Given the description of an element on the screen output the (x, y) to click on. 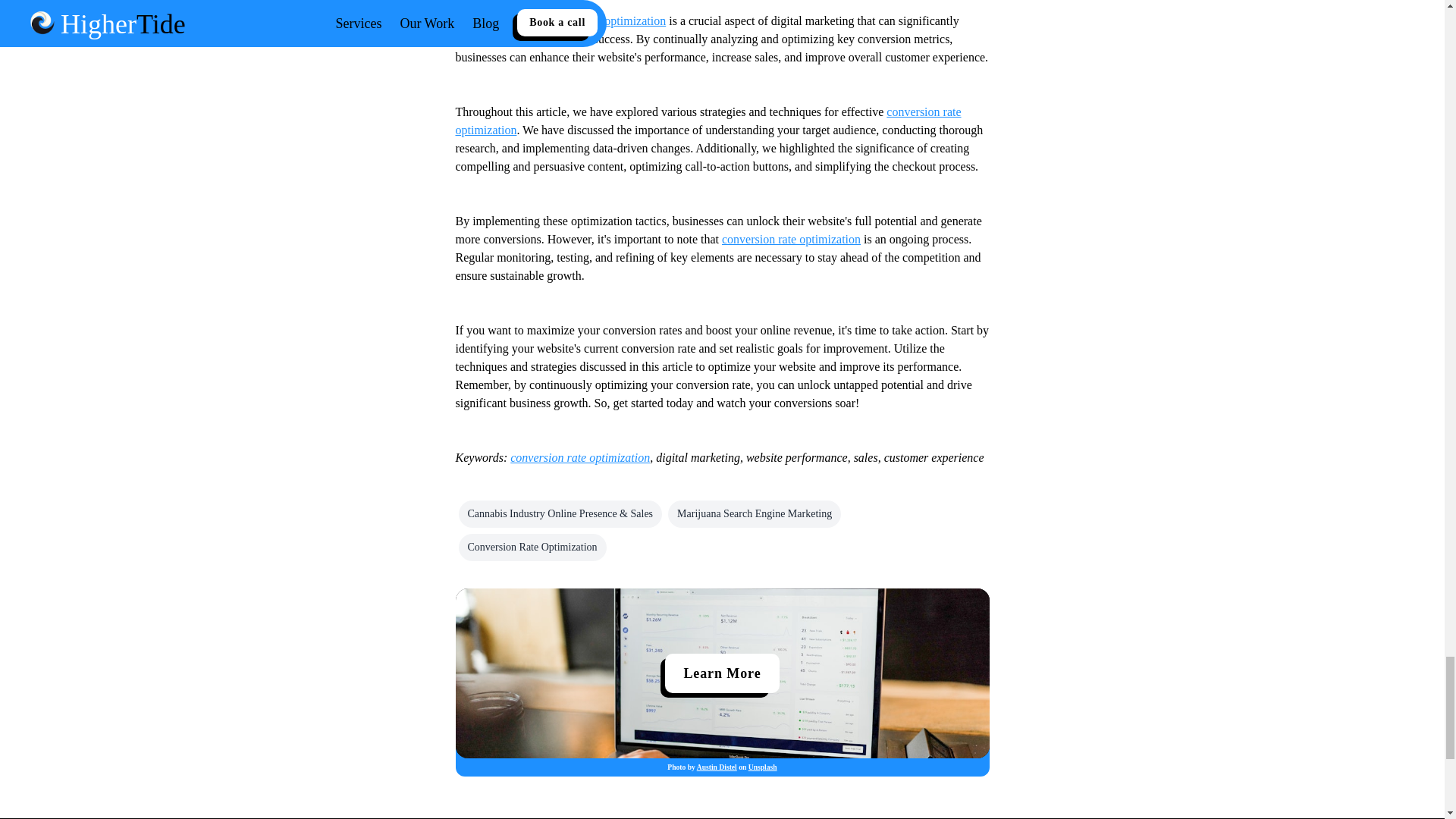
Conversion Rate Optimization (531, 547)
conversion rate optimization (580, 457)
conversion rate optimization (791, 238)
Unsplash (762, 766)
Learn More (721, 673)
Learn More (721, 672)
Austin Distel (716, 766)
conversion rate optimization (707, 120)
conversion rate optimization (596, 20)
Marijuana Search Engine Marketing (754, 513)
